Given the description of an element on the screen output the (x, y) to click on. 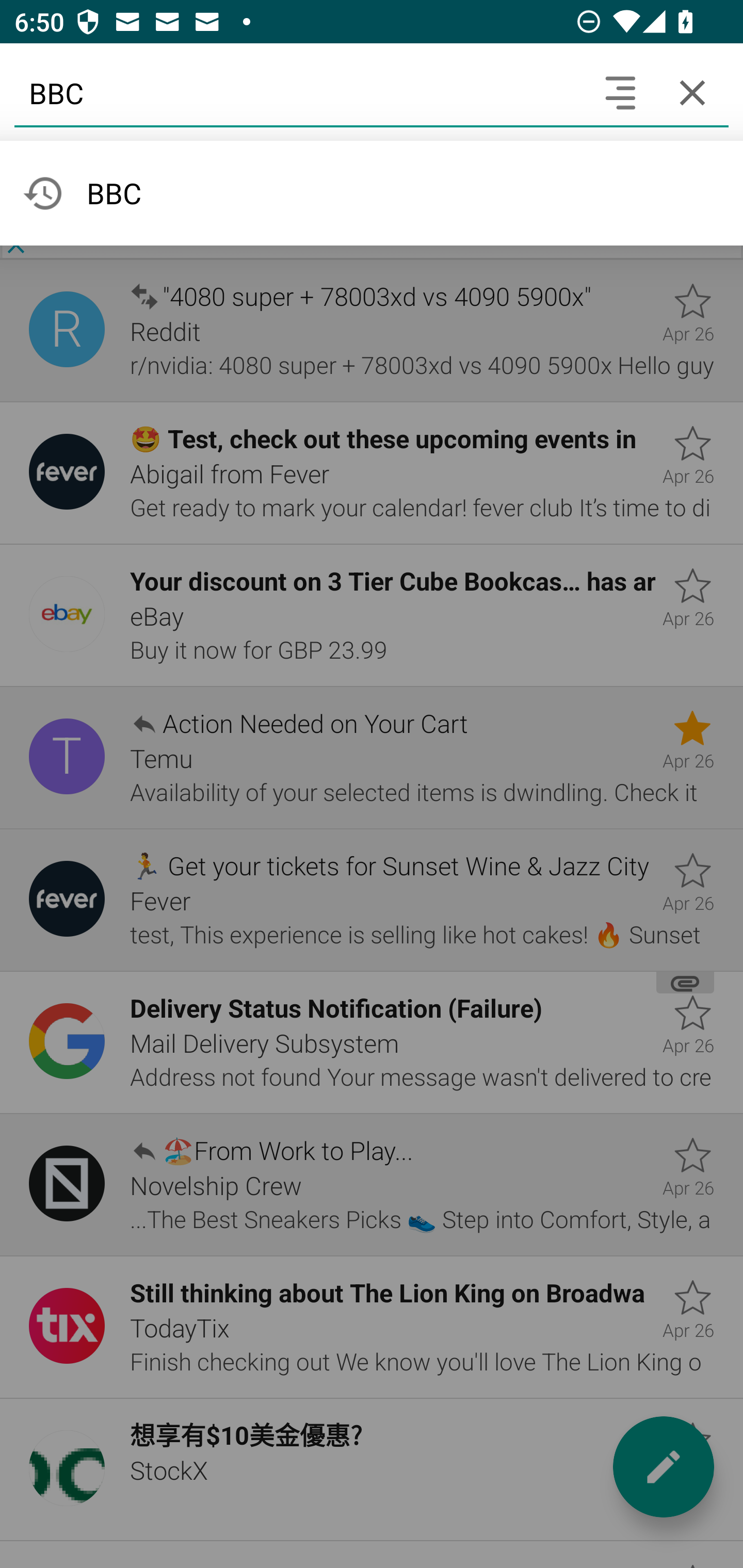
BBC (298, 92)
Search headers and text (619, 92)
Cancel (692, 92)
